Given the description of an element on the screen output the (x, y) to click on. 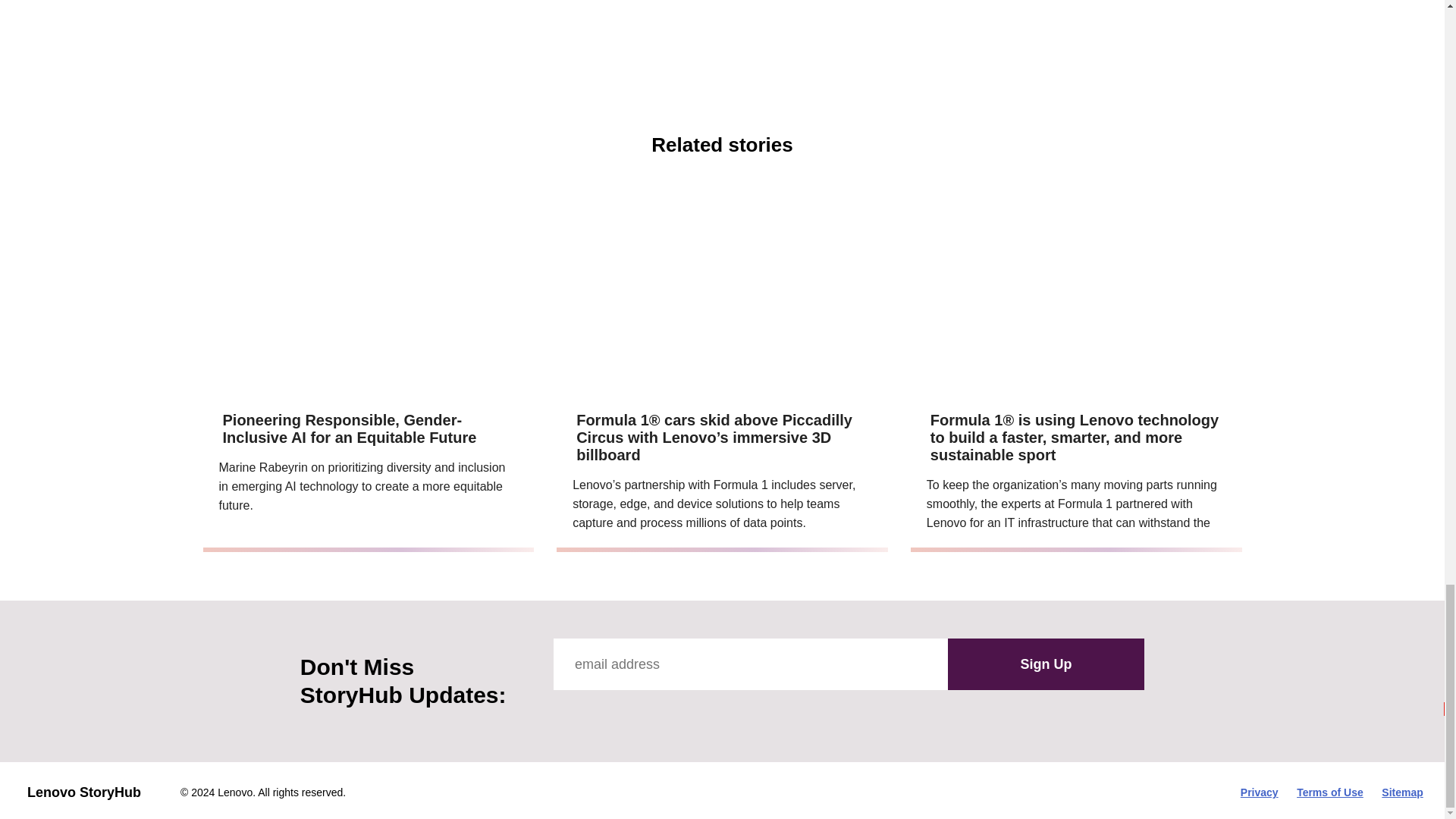
Twitter (599, 712)
Instagram (667, 712)
Learn more about our AI-powered transformation. (854, 41)
Facebook (564, 712)
Sign Up (1045, 664)
LinkedIn (701, 712)
Sign Up (1045, 664)
Youtube (633, 712)
